Given the description of an element on the screen output the (x, y) to click on. 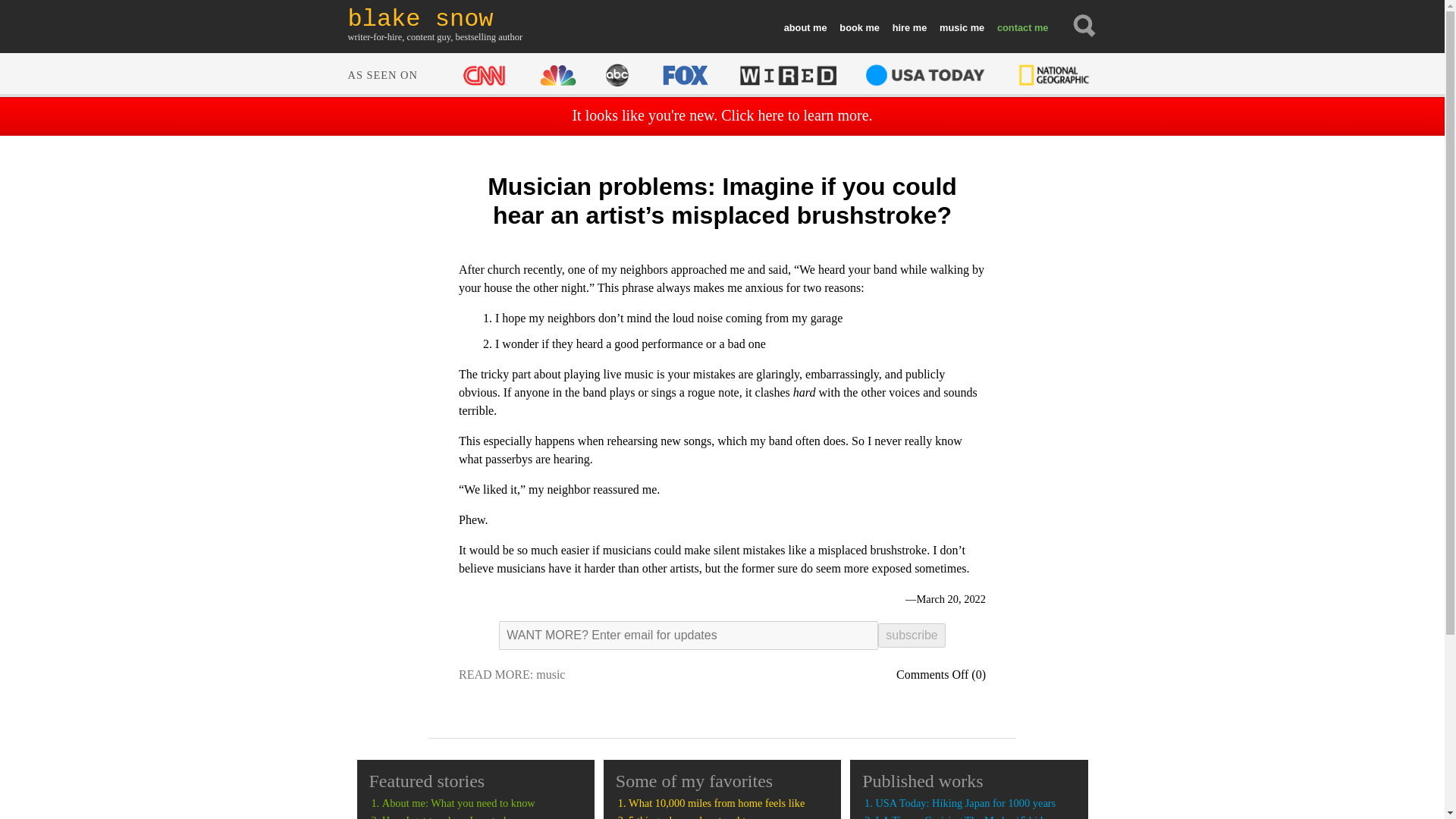
subscribe (910, 635)
Blake Snow (434, 18)
book (858, 28)
music (549, 674)
AS SEEN ON (719, 73)
blake snow (434, 18)
5 things dance class taught me (728, 816)
How I got to where I am today (481, 816)
What 10,000 miles from home feels like (728, 802)
USA Today: Hiking Japan for 1000 years (975, 802)
subscribe (910, 635)
music (962, 28)
About me: What you need to know (481, 802)
hire (908, 28)
contact (1020, 28)
